Given the description of an element on the screen output the (x, y) to click on. 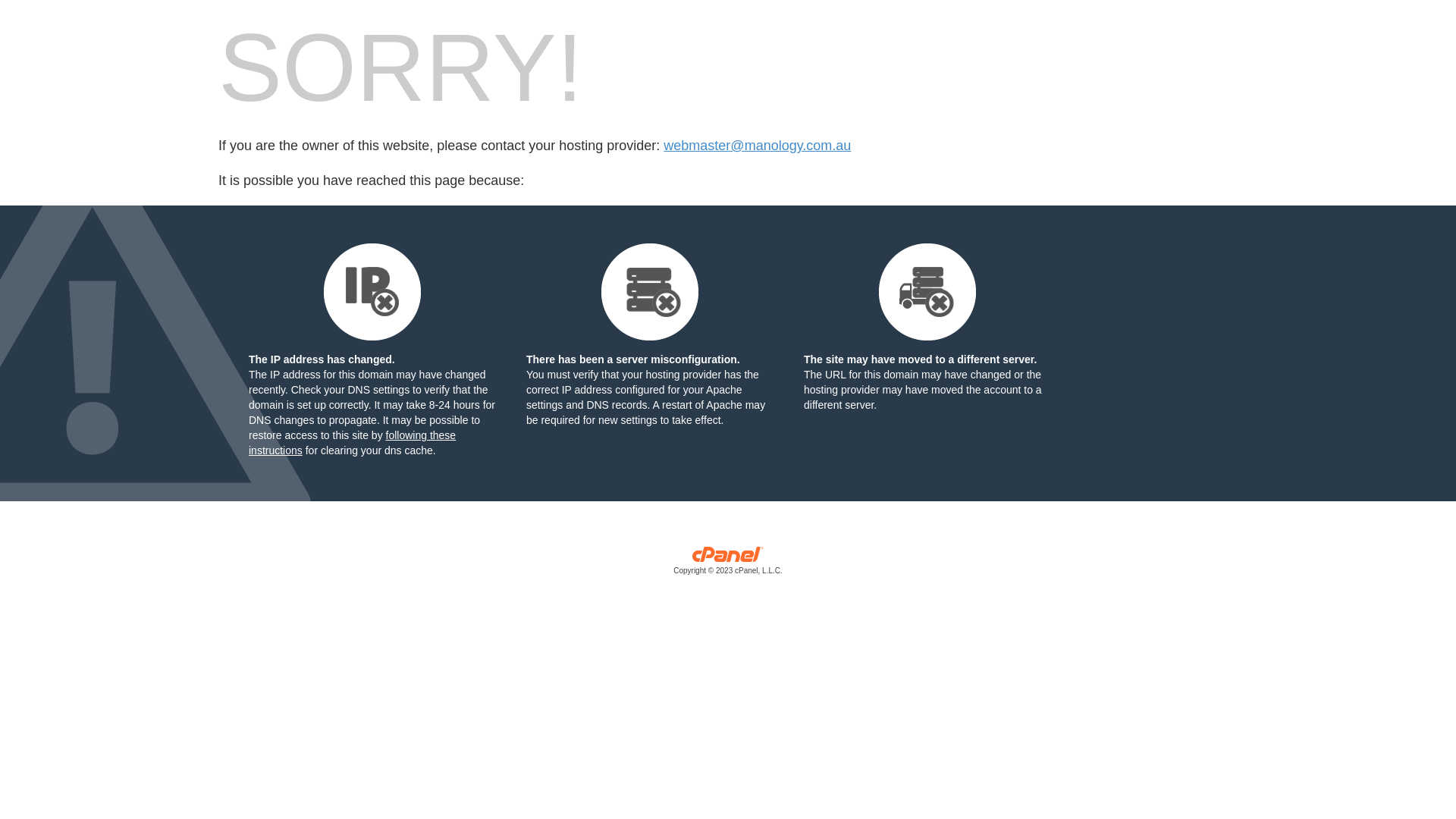
following these instructions Element type: text (351, 442)
webmaster@manology.com.au Element type: text (756, 145)
